Given the description of an element on the screen output the (x, y) to click on. 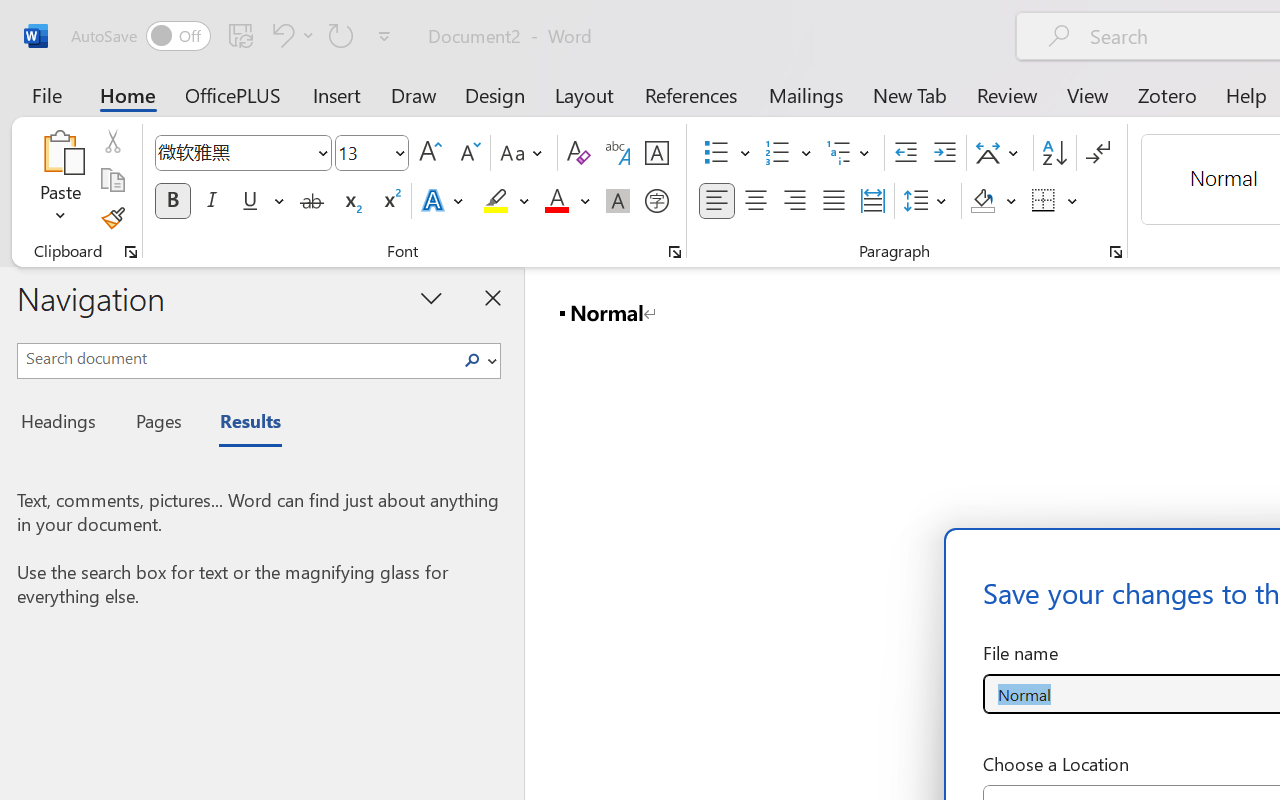
Enclose Characters... (656, 201)
Phonetic Guide... (618, 153)
Headings (64, 424)
Undo <ApplyStyleToDoc>b__0 (290, 35)
Font Color (567, 201)
Clear Formatting (578, 153)
OfficePLUS (233, 94)
Grow Font (430, 153)
Insert (337, 94)
Shading (993, 201)
